Given the description of an element on the screen output the (x, y) to click on. 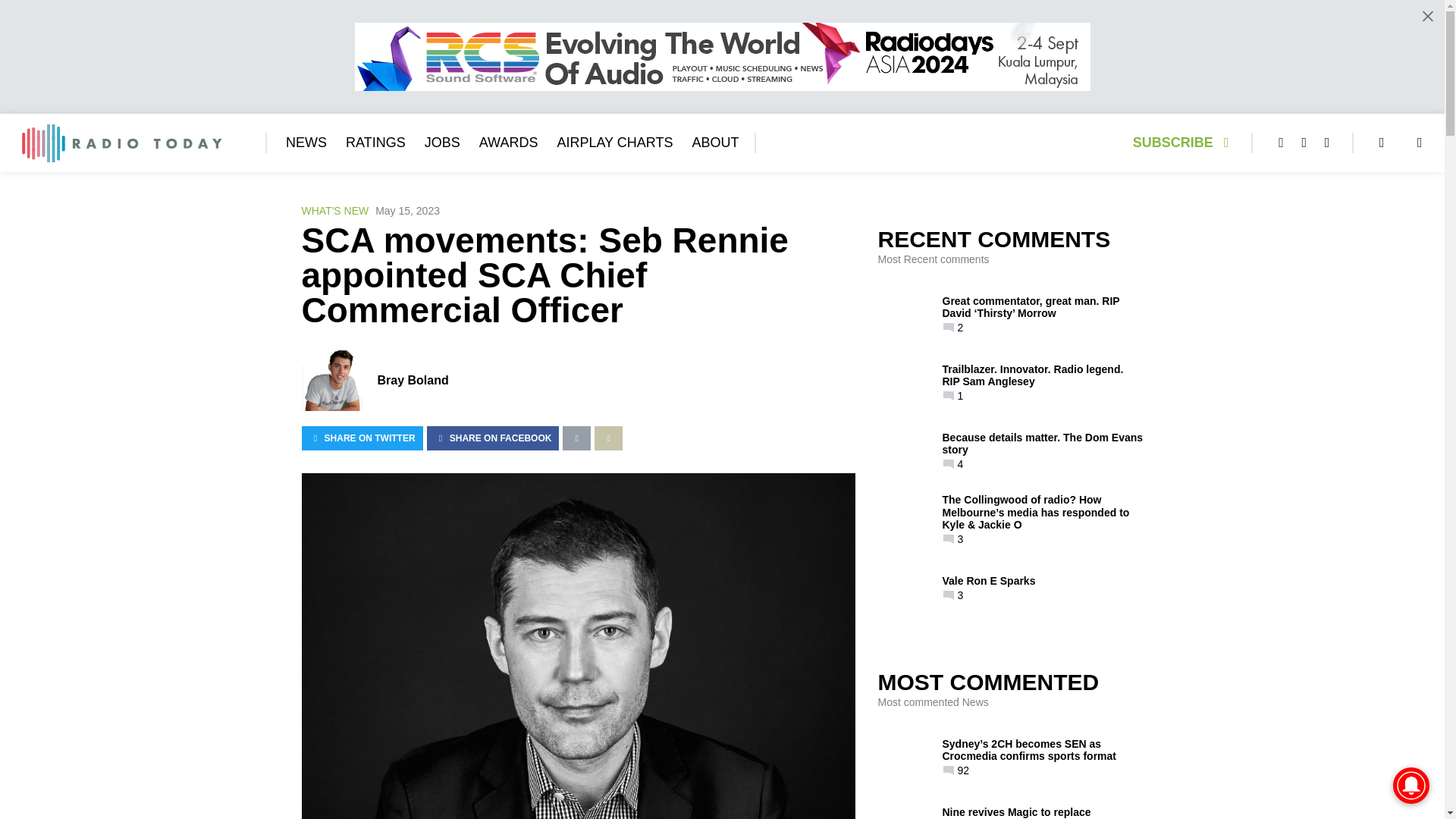
RATINGS (376, 142)
SHARE ON FACEBOOK (492, 437)
JOBS (442, 142)
ABOUT (714, 142)
NEWS (305, 142)
AWARDS (508, 142)
SHARE ON TWITTER (362, 437)
AIRPLAY CHARTS (614, 142)
Close (1427, 16)
SUBSCRIBE (1184, 142)
Bray Boland (412, 379)
WHAT'S NEW (335, 211)
